Given the description of an element on the screen output the (x, y) to click on. 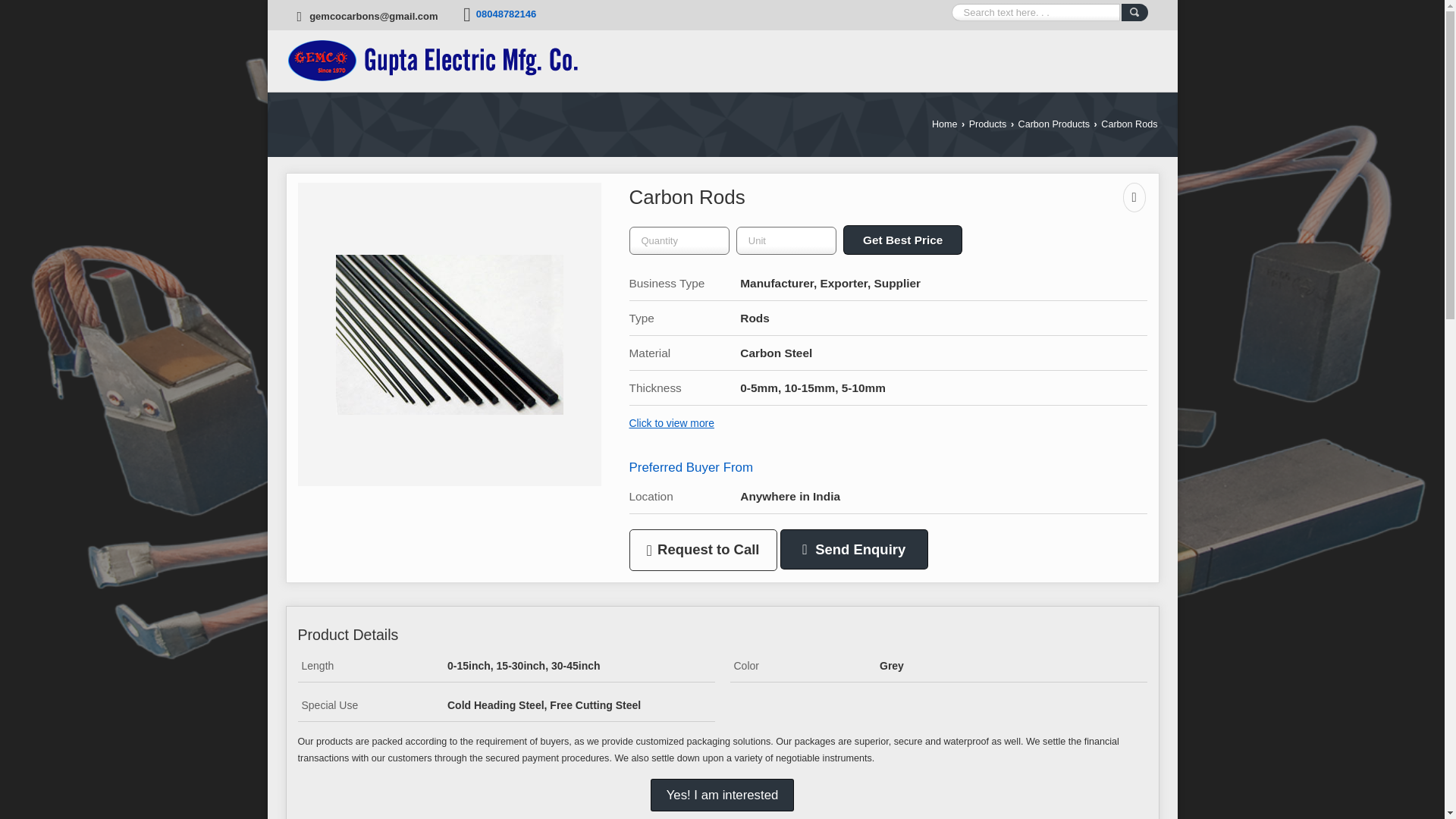
Gupta Electric Mfg. Co. (430, 61)
Carbon Rods (448, 334)
Request to Call (702, 549)
Click to view more (671, 422)
Gupta Electric Mfg. Co. (430, 60)
Yes! I am interested (722, 794)
